Given the description of an element on the screen output the (x, y) to click on. 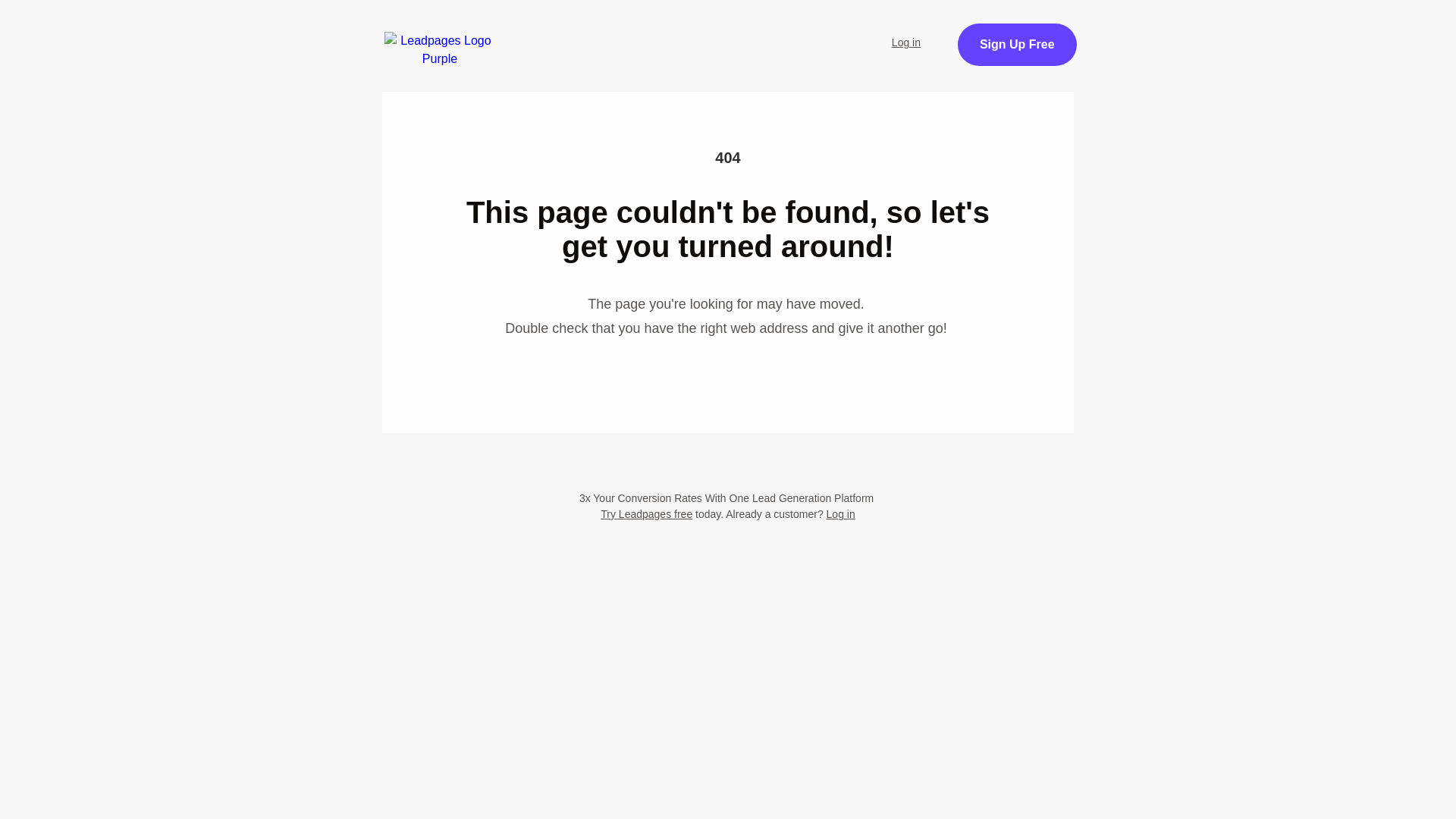
Start Spiritual Gifts Test (627, 33)
Get Free Book From The Ministry (727, 150)
HOME (501, 33)
Get Free Prophecy (1070, 53)
Our Verse of the Day (791, 33)
Give To The Ministry (529, 74)
